Given the description of an element on the screen output the (x, y) to click on. 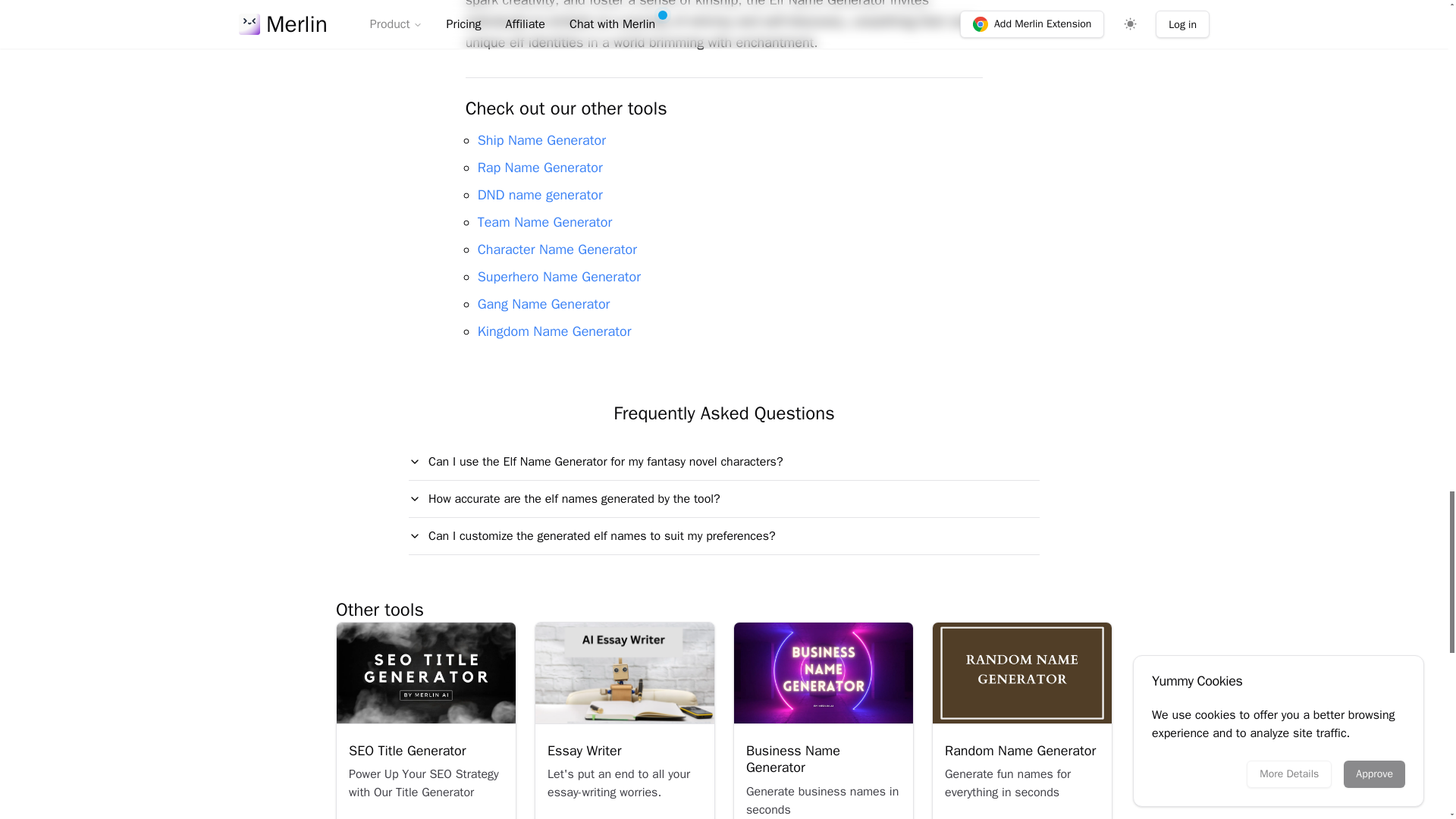
Superhero Name Generator (558, 276)
DND name generator (539, 194)
Team Name Generator (544, 221)
Ship Name Generator (541, 139)
Rap Name Generator (539, 167)
Character Name Generator (557, 248)
